Given the description of an element on the screen output the (x, y) to click on. 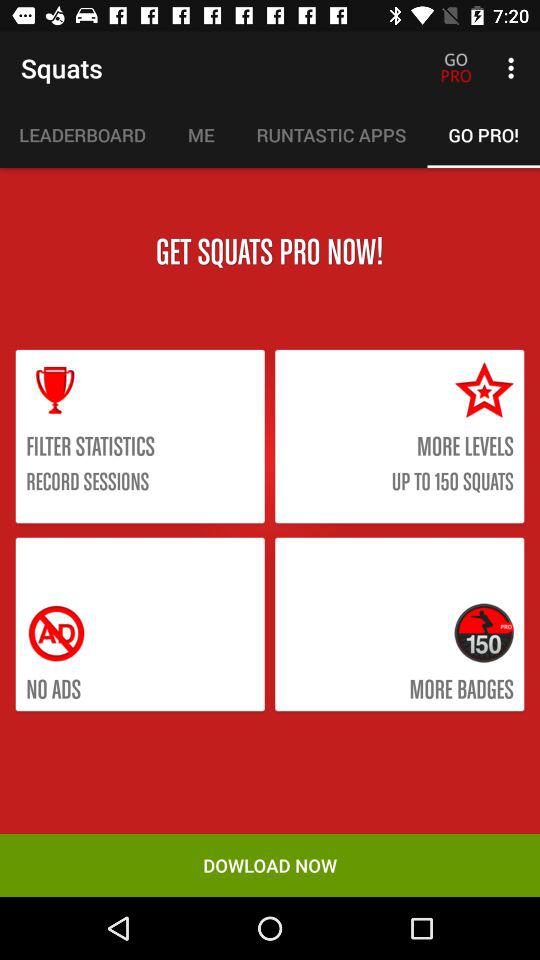
turn off the item above the get squats pro item (83, 135)
